Given the description of an element on the screen output the (x, y) to click on. 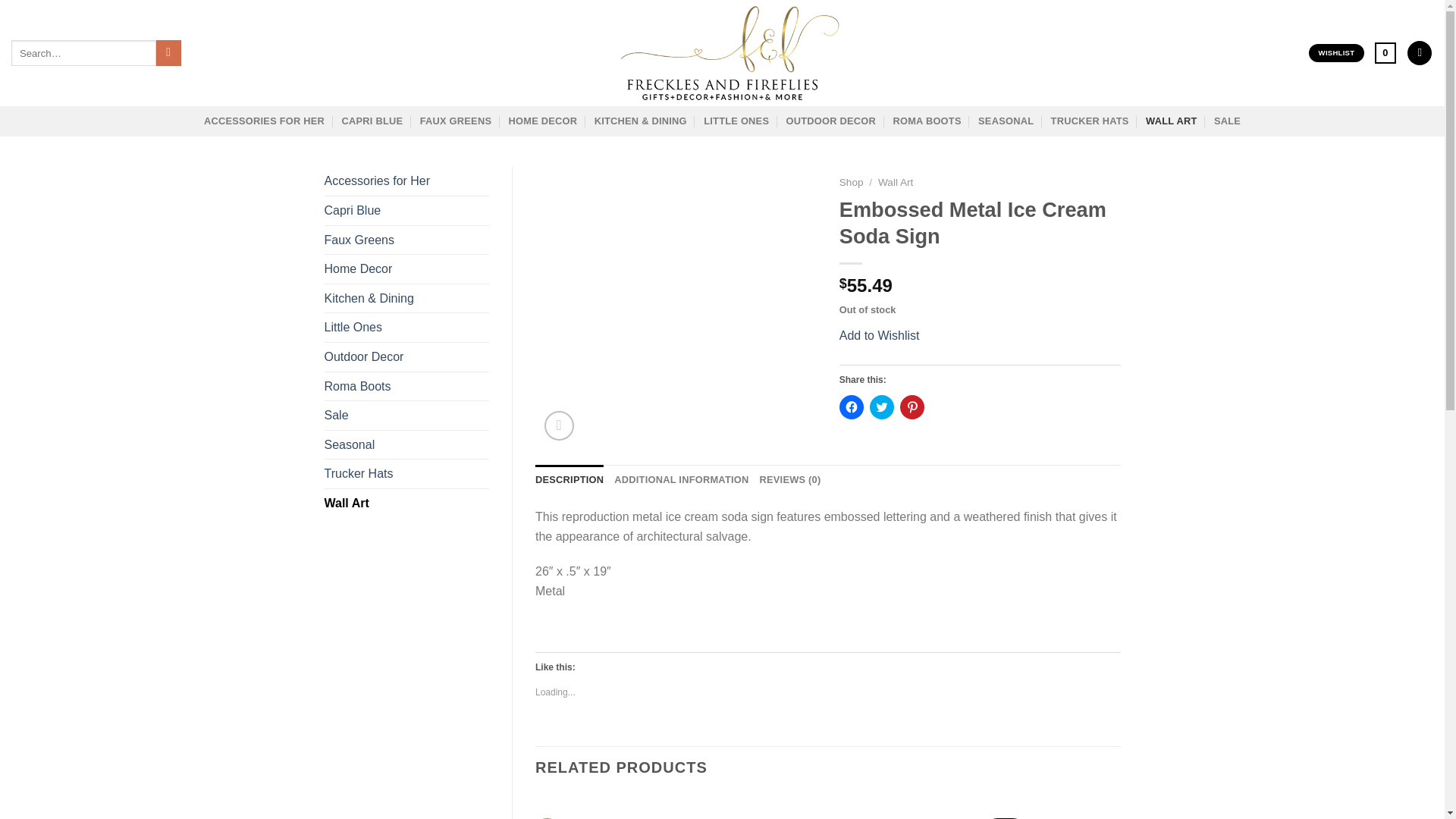
Zoom (558, 425)
ACCESSORIES FOR HER (263, 121)
Roma Boots (406, 386)
ROMA BOOTS (926, 121)
SEASONAL (1005, 121)
Faux Greens (406, 240)
Little Ones (406, 327)
Click to share on Pinterest (911, 406)
Seasonal (406, 444)
LITTLE ONES (735, 121)
Outdoor Decor (406, 357)
CAPRI BLUE (371, 121)
WALL ART (1170, 121)
Login (1419, 53)
Click to share on Facebook (851, 406)
